Given the description of an element on the screen output the (x, y) to click on. 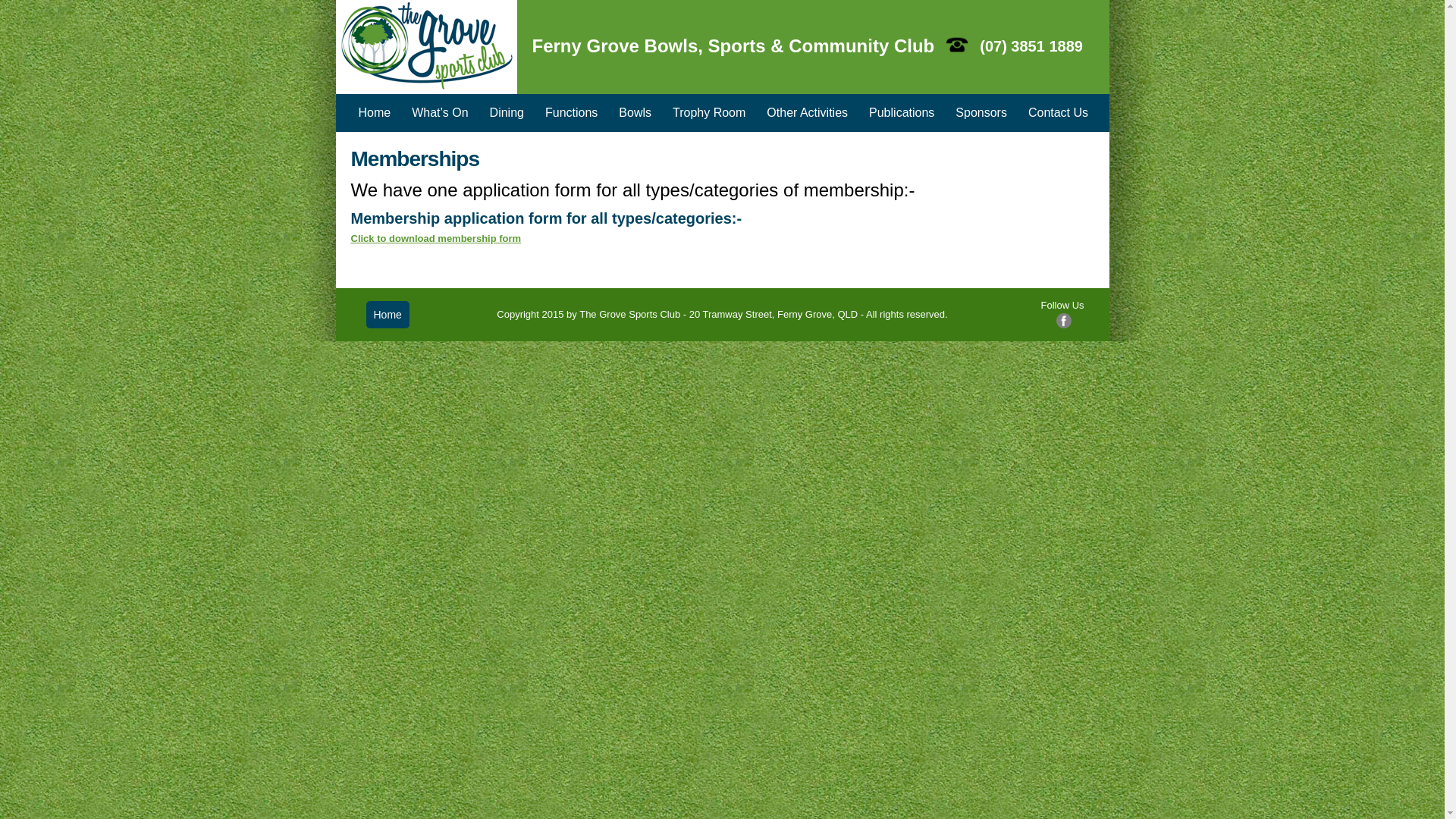
Home Element type: text (374, 112)
Functions Element type: text (571, 112)
Contact Us Element type: text (1057, 112)
Dining Element type: text (506, 112)
Trophy Room Element type: text (709, 112)
Publications Element type: text (901, 112)
Click to download membership form Element type: text (435, 238)
Bowls Element type: text (634, 112)
Other Activities Element type: text (807, 112)
Home Element type: text (386, 314)
Sponsors Element type: text (980, 112)
